Given the description of an element on the screen output the (x, y) to click on. 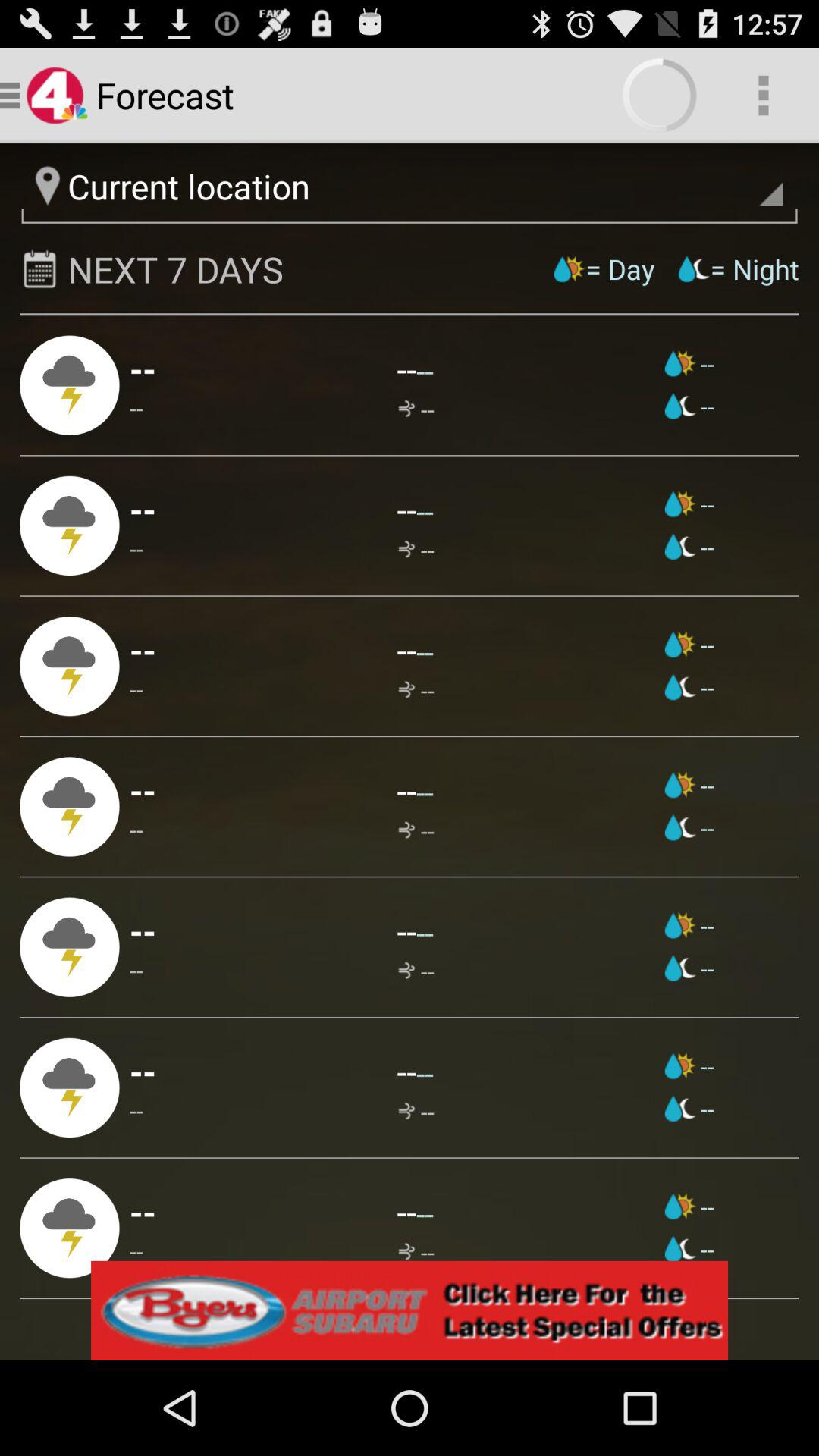
click the item above -- icon (142, 649)
